Given the description of an element on the screen output the (x, y) to click on. 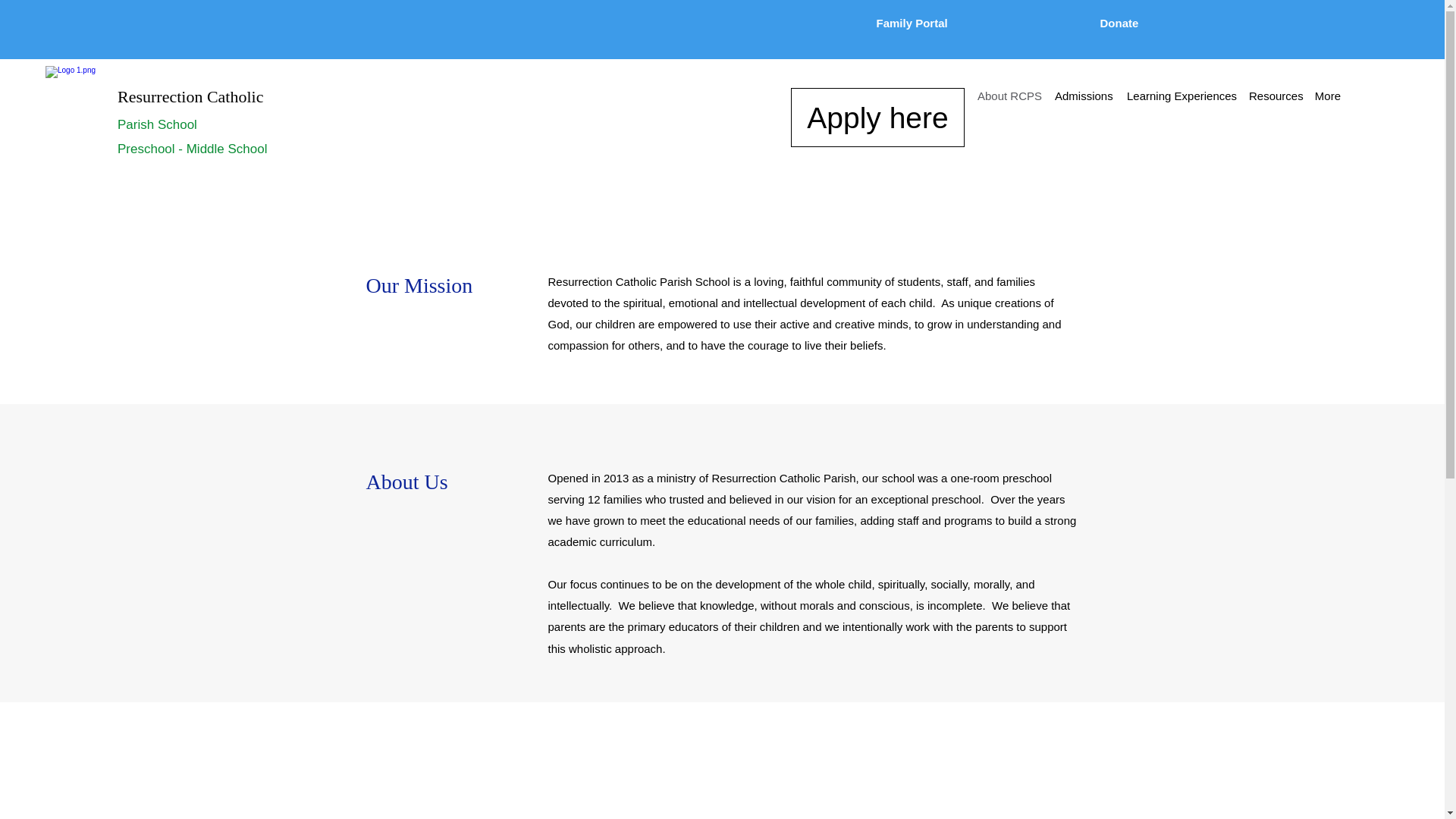
Resources (1273, 96)
Resurrection Catholic (190, 96)
About RCPS (1007, 96)
Apply here (876, 117)
Admissions (1082, 96)
Donate (1118, 22)
Learning Experiences (1180, 96)
Parish School (156, 124)
Family Portal      (919, 22)
